Given the description of an element on the screen output the (x, y) to click on. 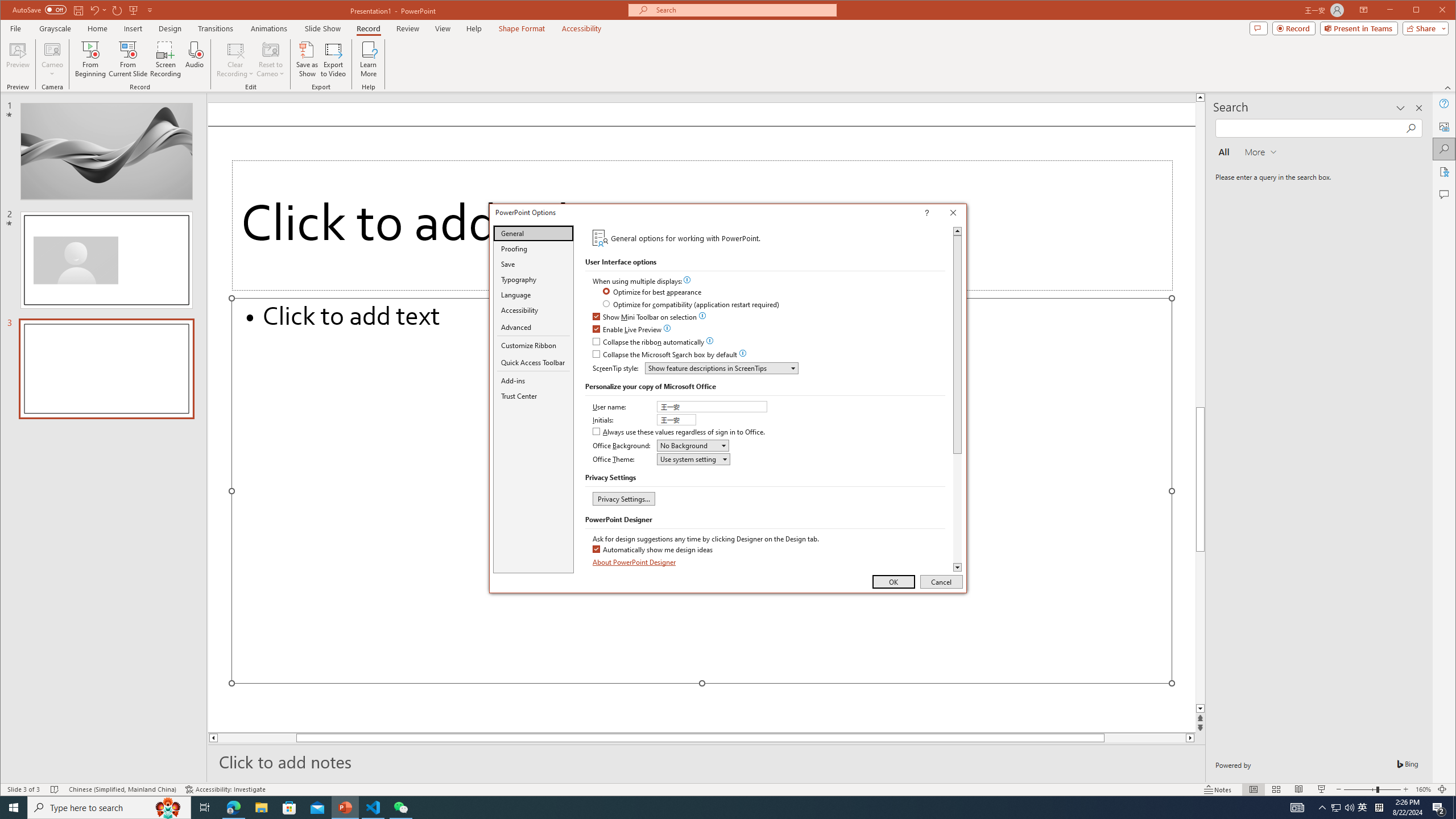
Add-ins (533, 380)
Initials (676, 419)
Zoom 160% (1422, 789)
Advanced (533, 327)
General (533, 233)
